Given the description of an element on the screen output the (x, y) to click on. 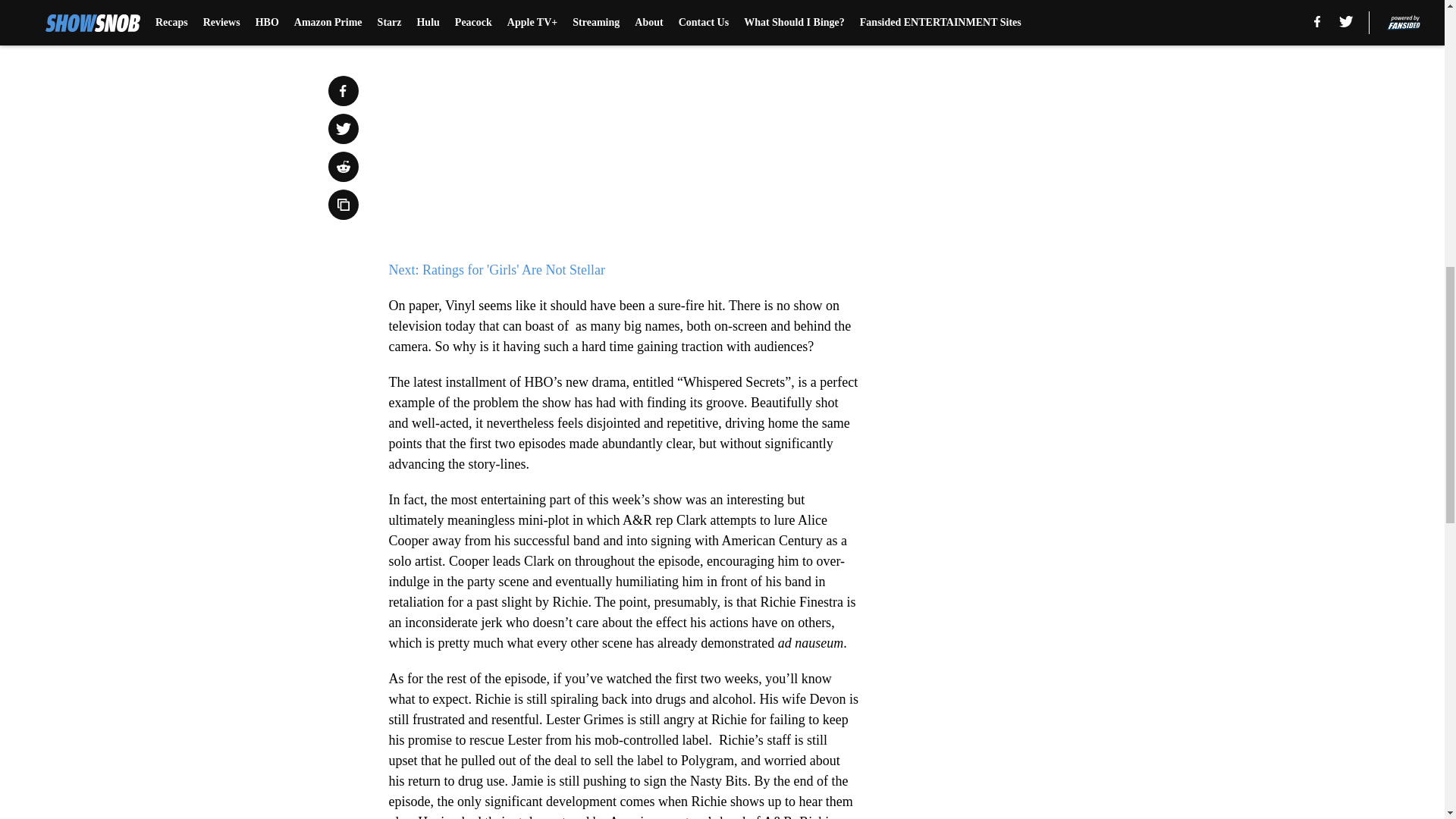
Next: Ratings for 'Girls' Are Not Stellar (496, 269)
